Given the description of an element on the screen output the (x, y) to click on. 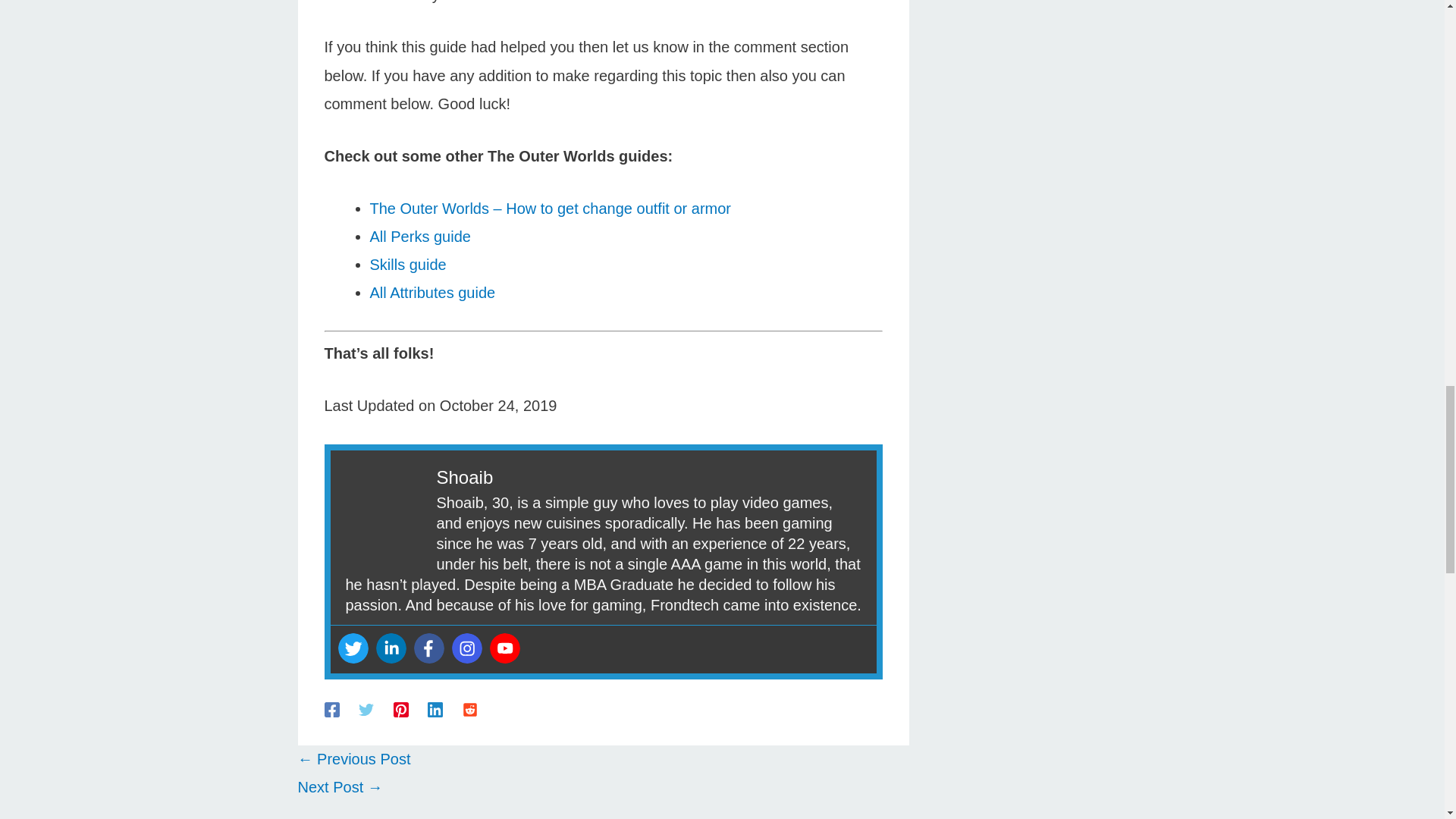
Facebook (428, 648)
Linkedin (390, 648)
Instagram (466, 648)
Twitter (352, 648)
All Perks guide (419, 236)
Youtube (504, 648)
Shoaib (464, 476)
All Attributes guide (432, 292)
Skills guide (407, 264)
